Given the description of an element on the screen output the (x, y) to click on. 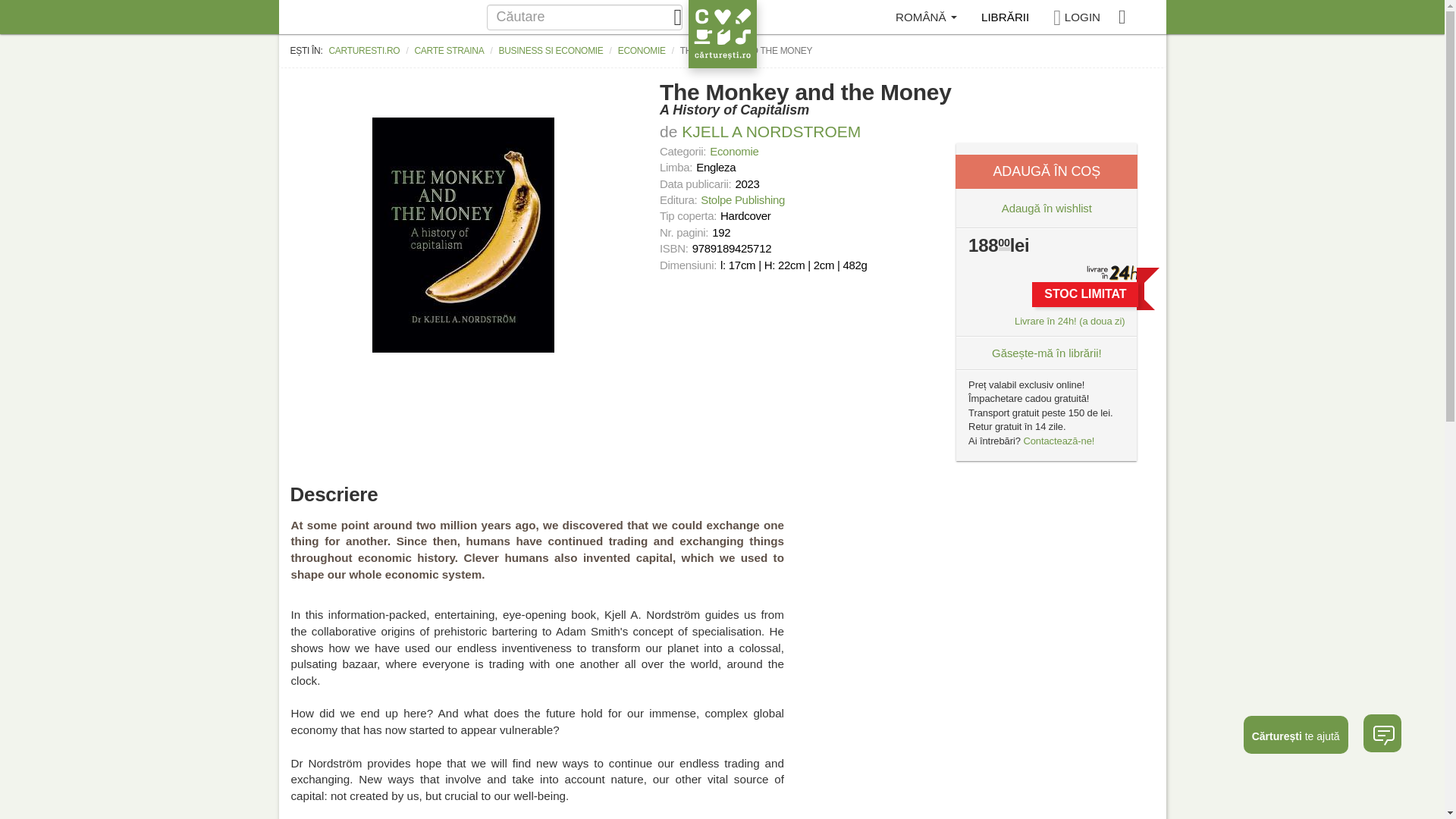
Stolpe Publishing (742, 199)
CARTURESTI.RO (363, 50)
CARTE STRAINA (449, 50)
KJELL A NORDSTROEM (771, 131)
Economie (733, 151)
ECONOMIE (641, 50)
BUSINESS SI ECONOMIE (550, 50)
